Given the description of an element on the screen output the (x, y) to click on. 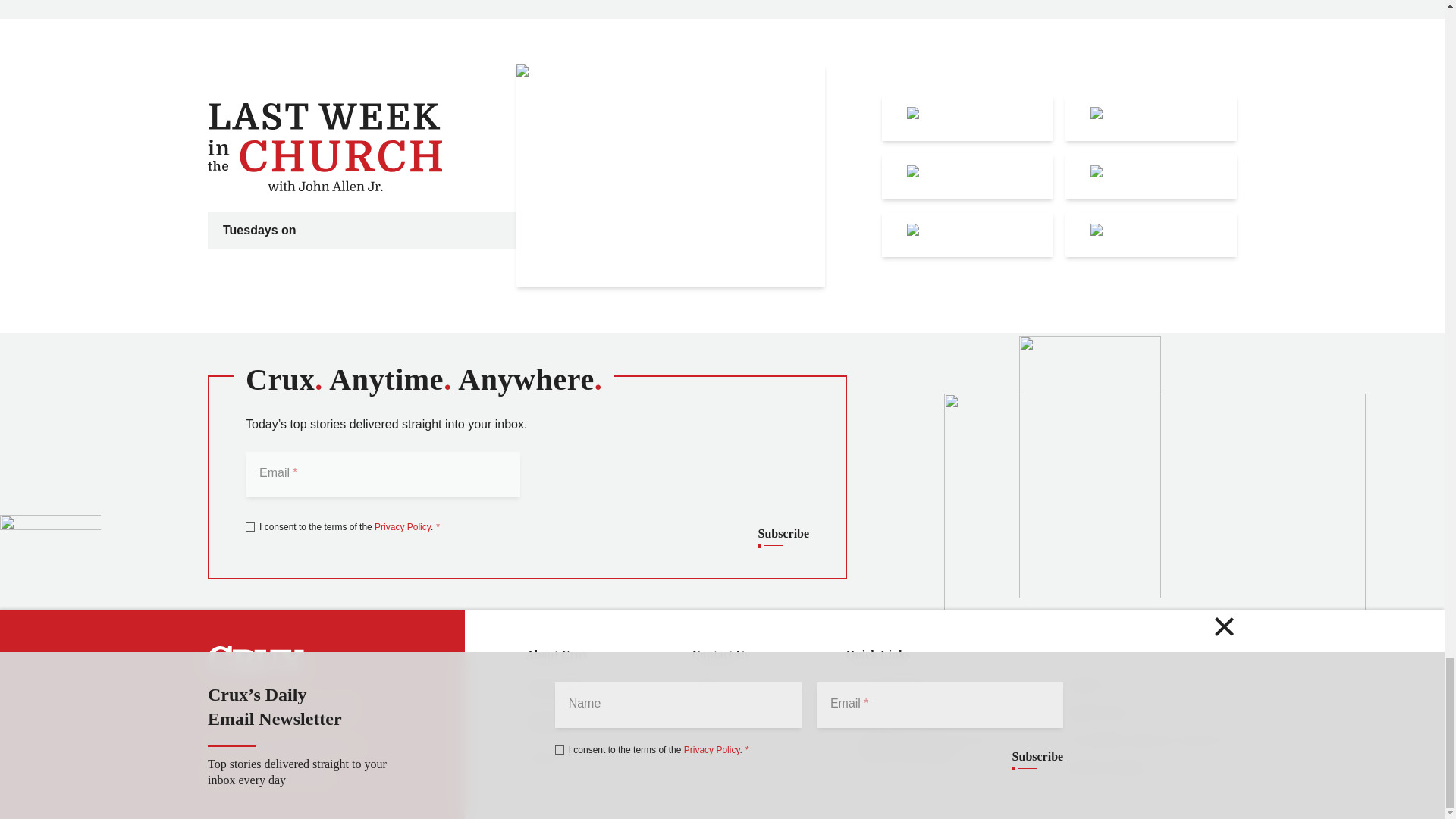
true (250, 526)
